Given the description of an element on the screen output the (x, y) to click on. 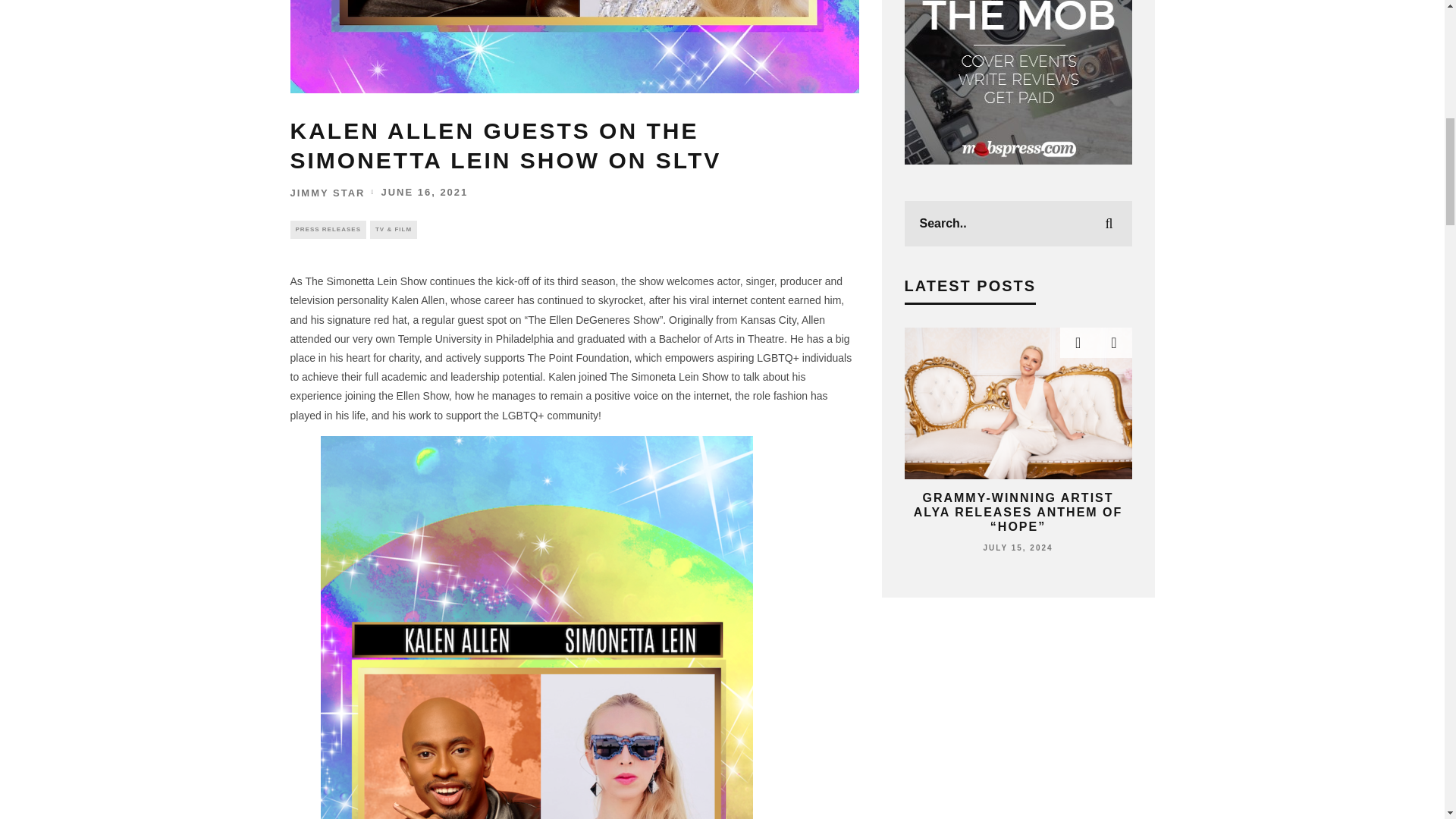
View all posts in Press Releases (327, 229)
